Given the description of an element on the screen output the (x, y) to click on. 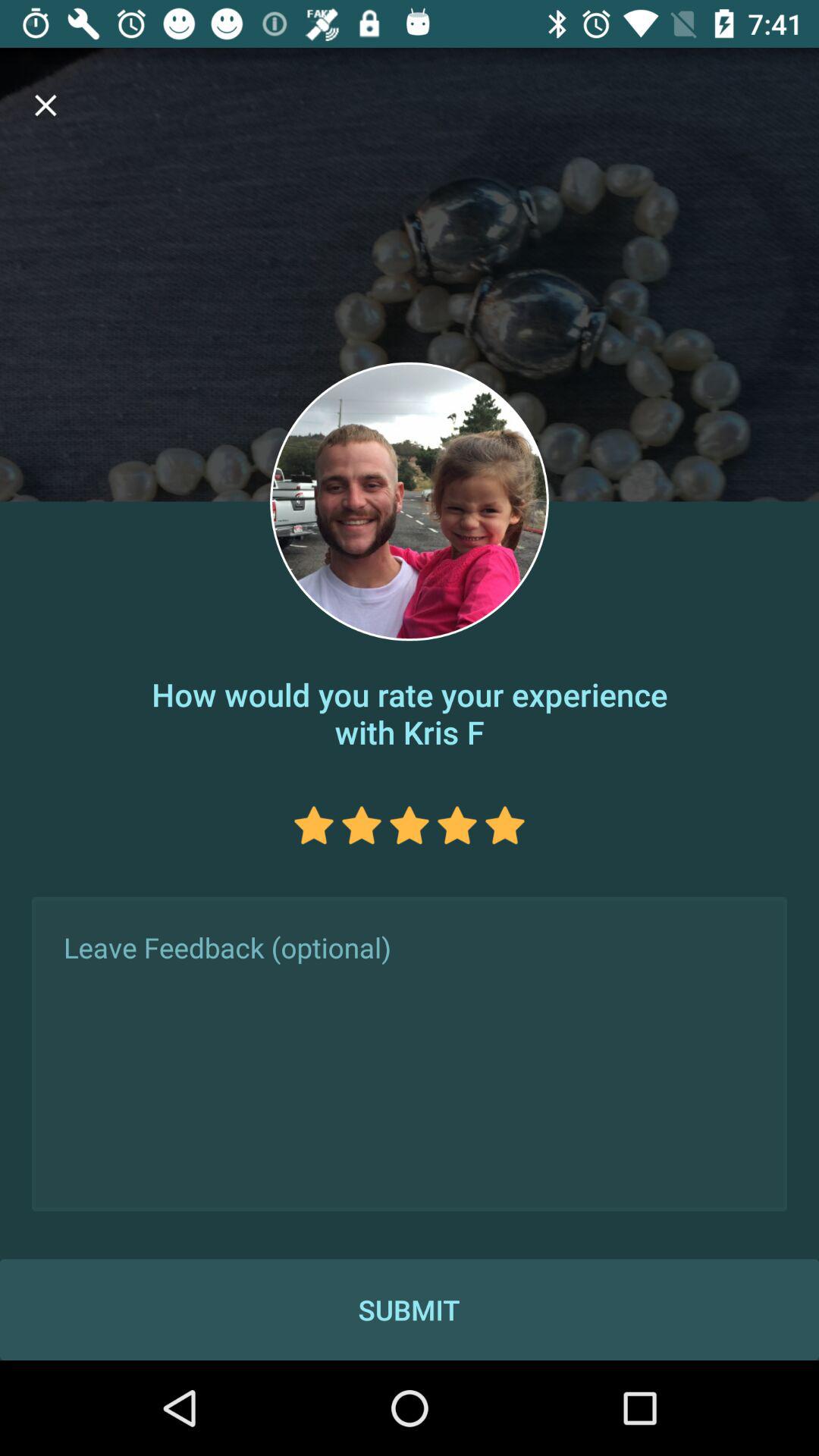
feedback box (409, 1053)
